Given the description of an element on the screen output the (x, y) to click on. 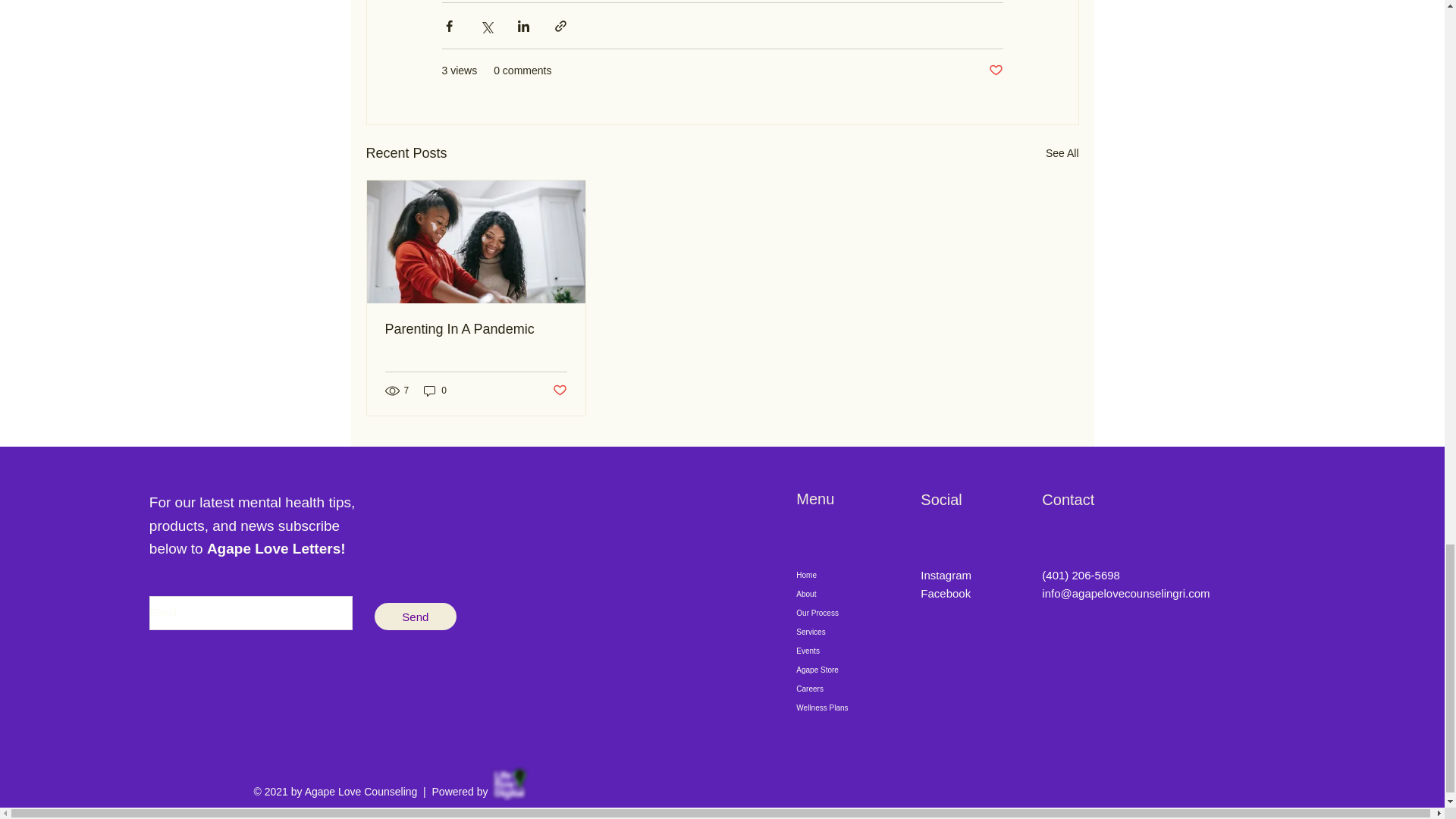
Post not marked as liked (558, 390)
Our Process (841, 612)
Agape Store (841, 669)
Careers (841, 688)
Facebook (945, 593)
0 (435, 391)
Services (841, 631)
Send (415, 615)
Parenting In A Pandemic (476, 329)
Home (841, 574)
